Given the description of an element on the screen output the (x, y) to click on. 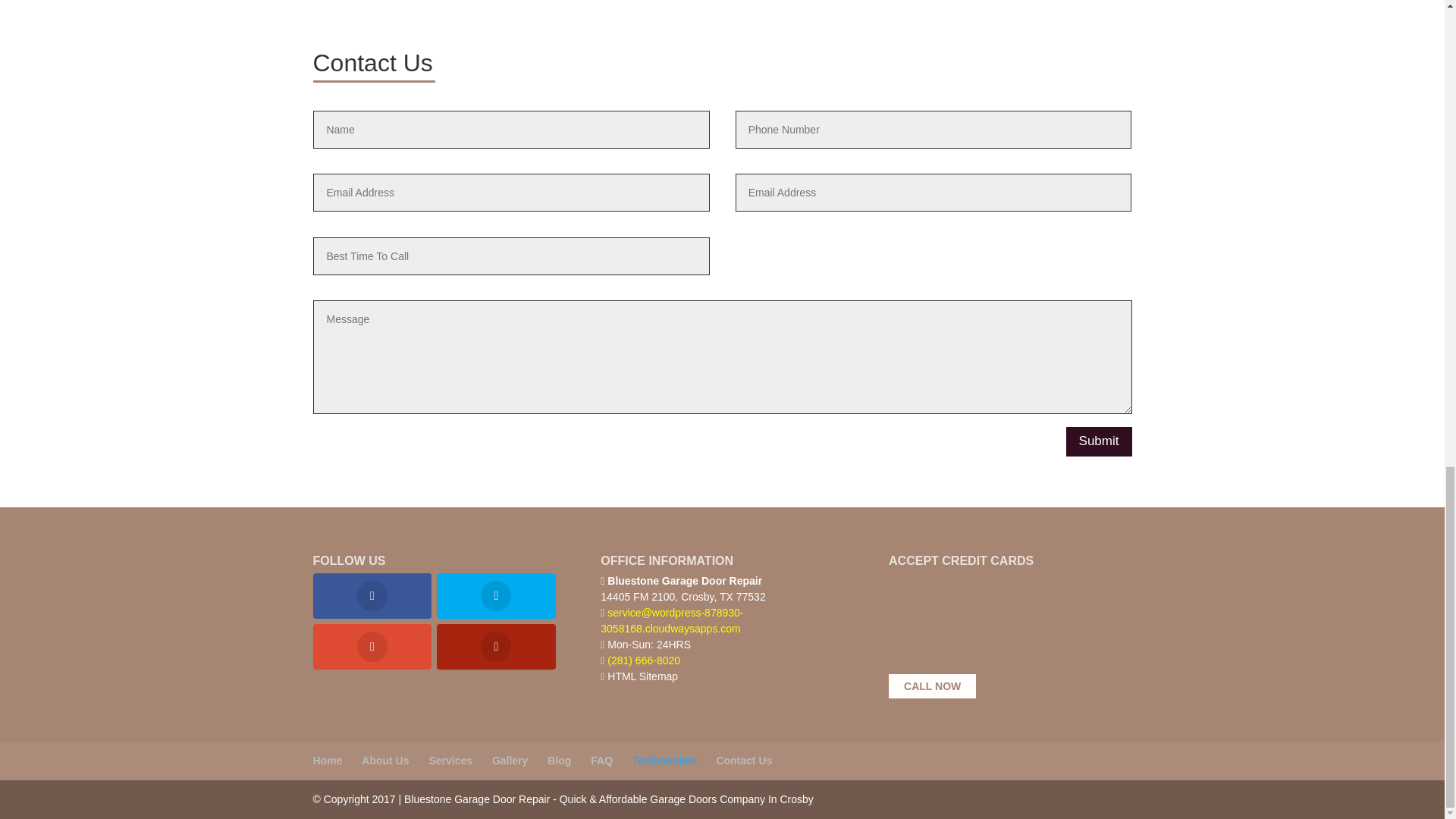
Submit (1098, 441)
Home (327, 760)
Contact Us (743, 760)
Blog (558, 760)
Testimonials (664, 760)
Gallery (509, 760)
About Us (385, 760)
Services (449, 760)
HTML Sitemap (642, 676)
FAQ (601, 760)
